Given the description of an element on the screen output the (x, y) to click on. 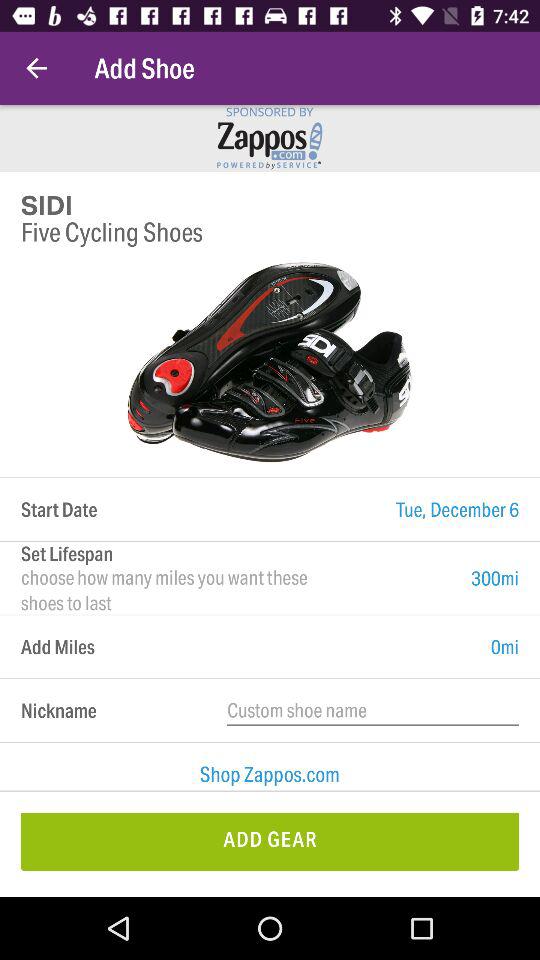
form field for a name (373, 710)
